Given the description of an element on the screen output the (x, y) to click on. 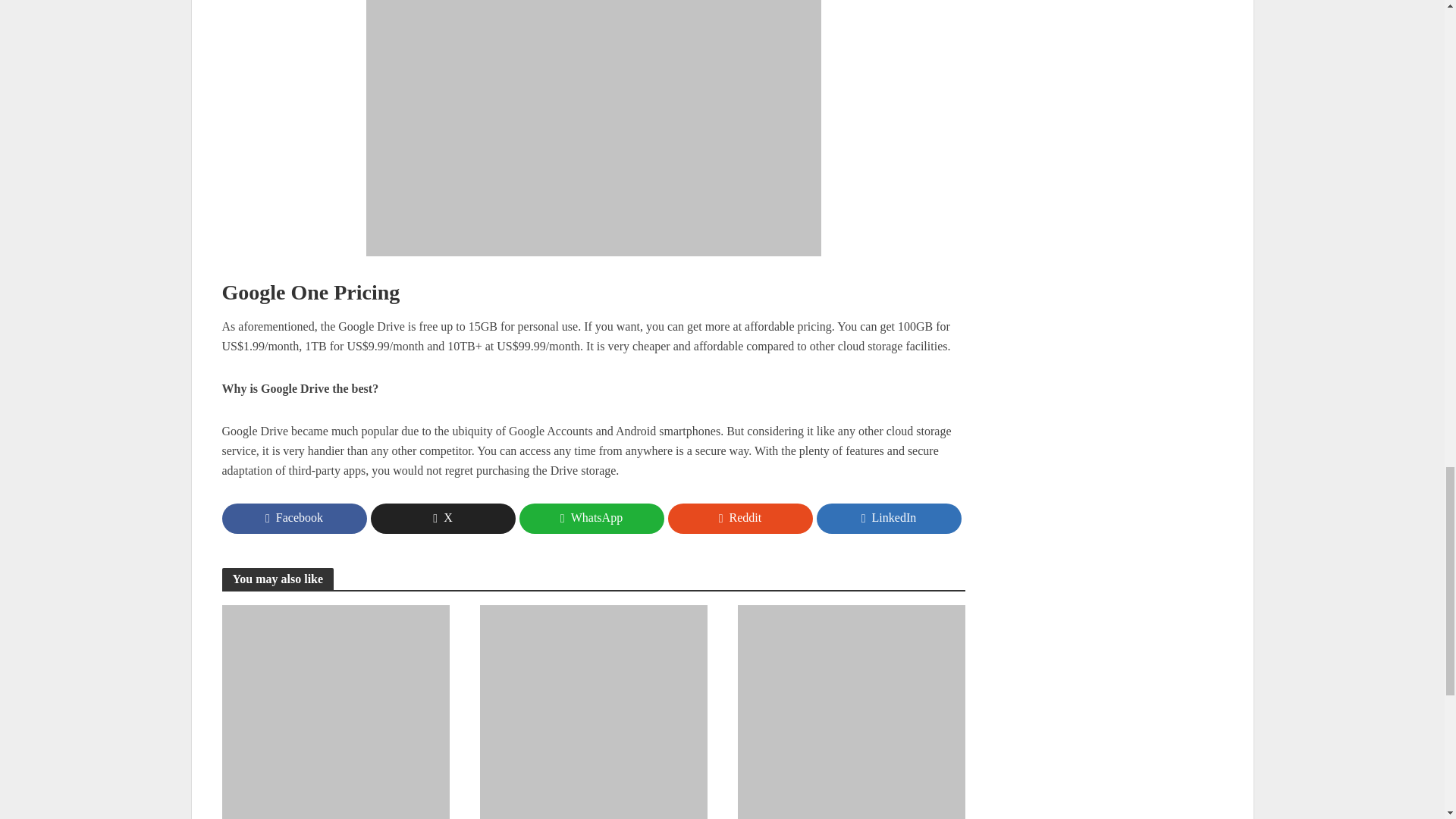
WhatsApp (590, 518)
LinkedIn (887, 518)
Reddit (739, 518)
Six Latest Redmi Phones with the Right Processor (849, 717)
How To Unlock Android Phone With 4uKey for Android (334, 717)
X (442, 518)
Facebook (293, 518)
Google One Features Plans and Pricing (593, 128)
How Can I Improve my Android Security? (592, 717)
